Given the description of an element on the screen output the (x, y) to click on. 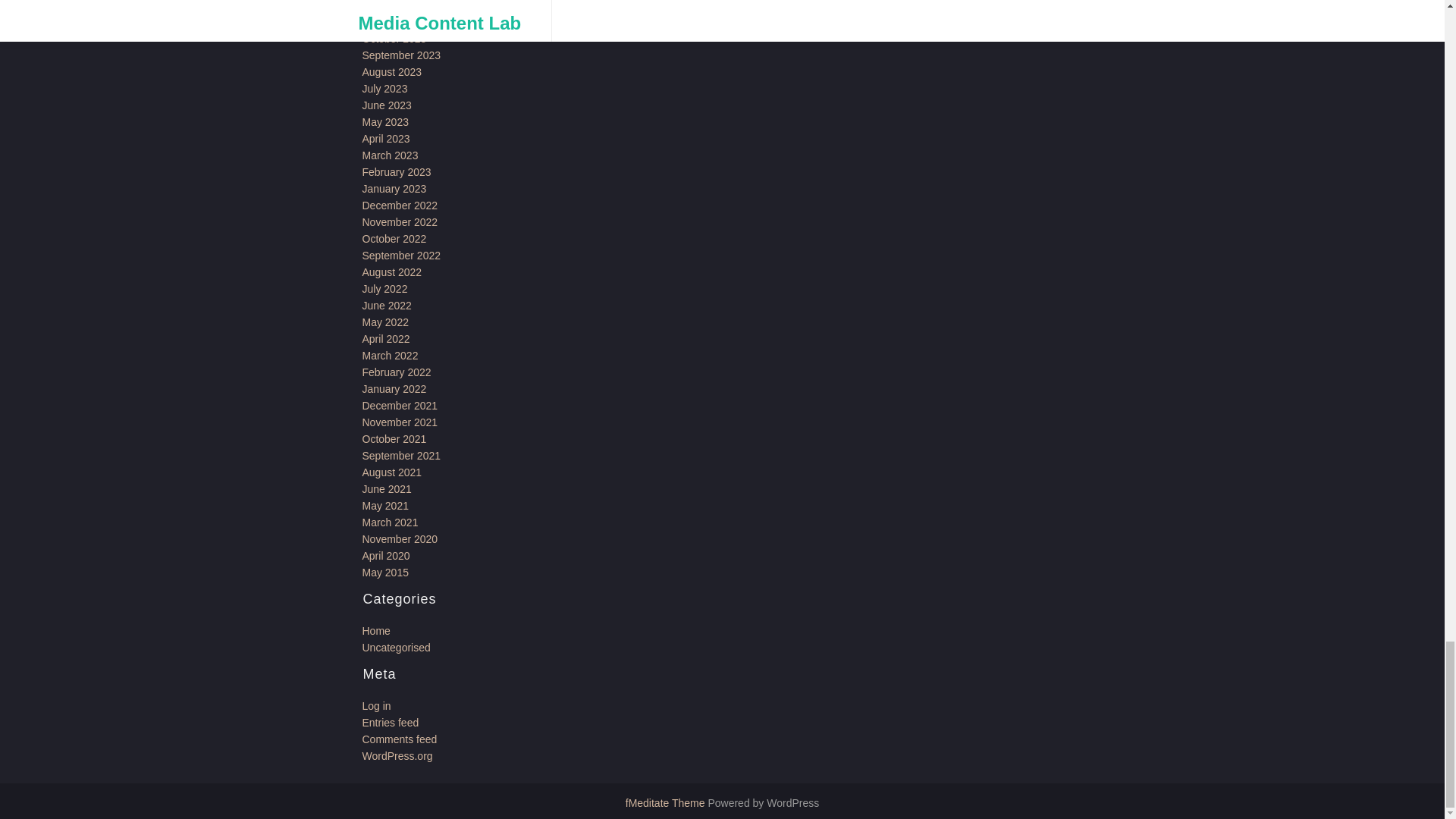
June 2023 (387, 105)
December 2022 (400, 205)
July 2023 (384, 88)
April 2023 (386, 138)
December 2023 (400, 5)
fMeditate Theme (666, 802)
August 2023 (392, 71)
November 2023 (400, 21)
March 2023 (390, 155)
November 2022 (400, 222)
September 2023 (401, 55)
October 2023 (394, 38)
May 2023 (385, 121)
January 2023 (394, 188)
February 2023 (396, 172)
